Given the description of an element on the screen output the (x, y) to click on. 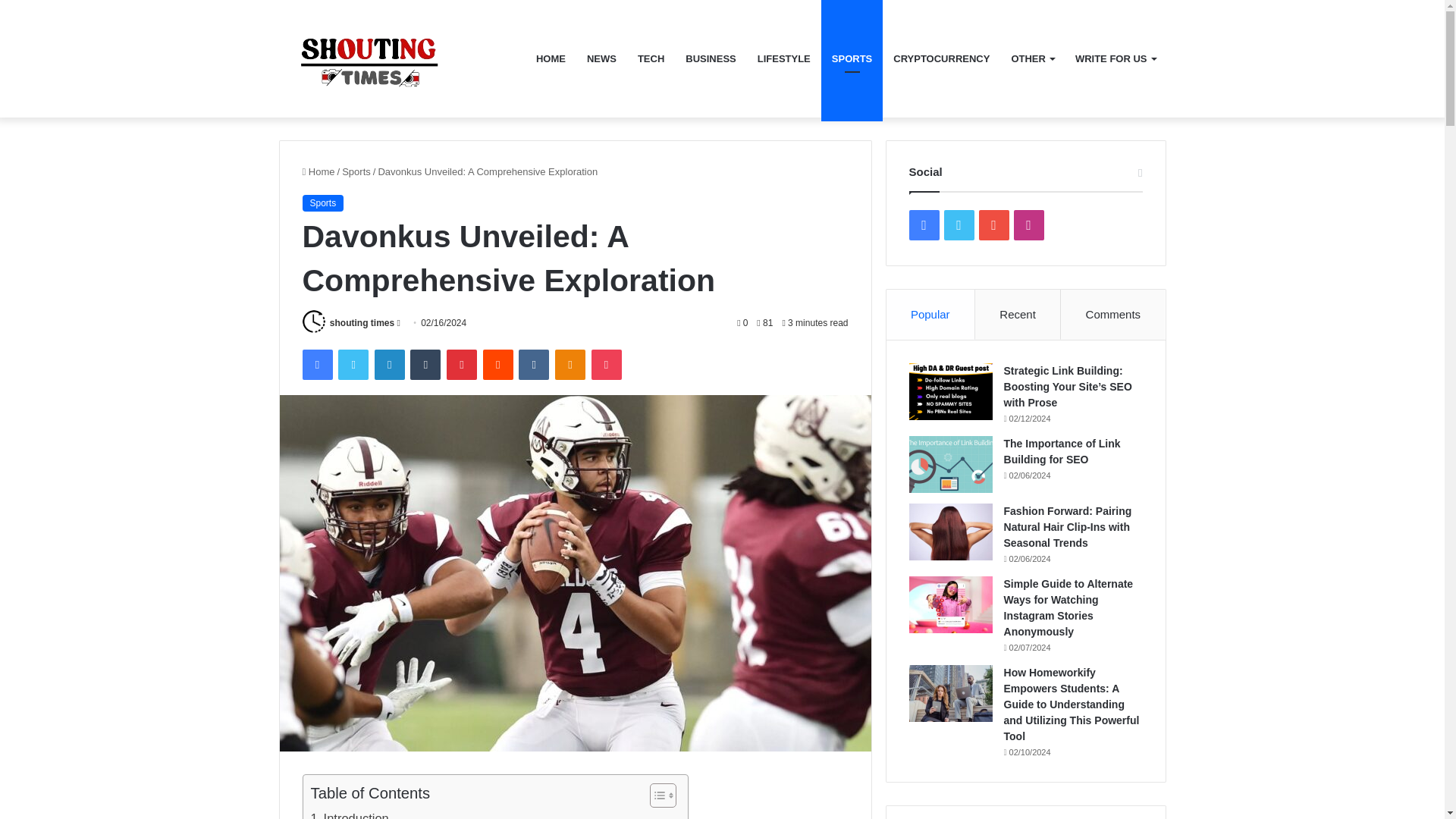
shouting times (362, 322)
Home (317, 171)
TECH (651, 58)
LinkedIn (389, 364)
WRITE FOR US (1115, 58)
Sports (356, 171)
Tumblr (425, 364)
OTHER (1032, 58)
HOME (550, 58)
Reddit (498, 364)
Introduction (349, 813)
shouting times (362, 322)
VKontakte (533, 364)
Tumblr (425, 364)
